Given the description of an element on the screen output the (x, y) to click on. 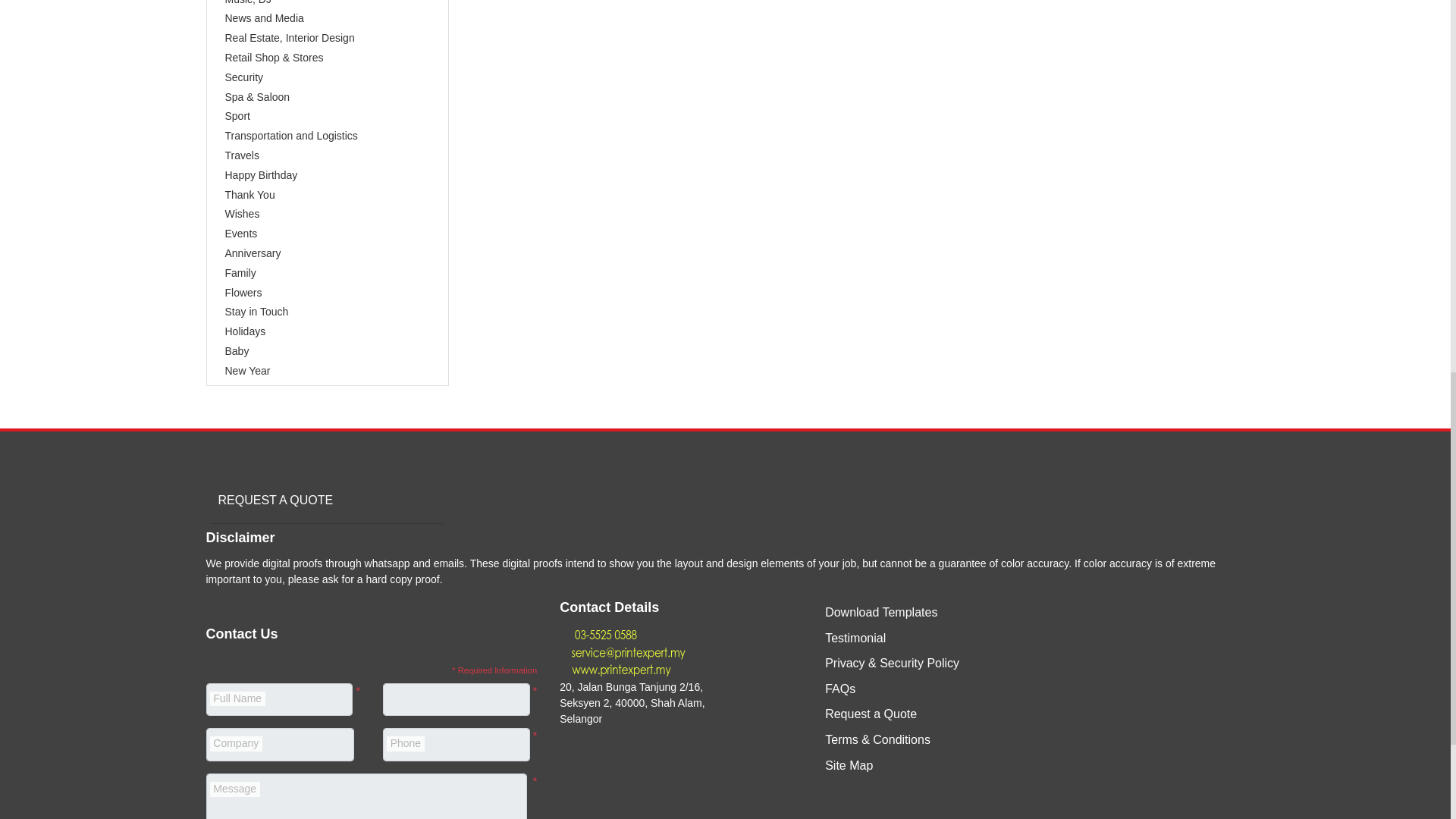
REQUEST A QUOTE (272, 498)
